Given the description of an element on the screen output the (x, y) to click on. 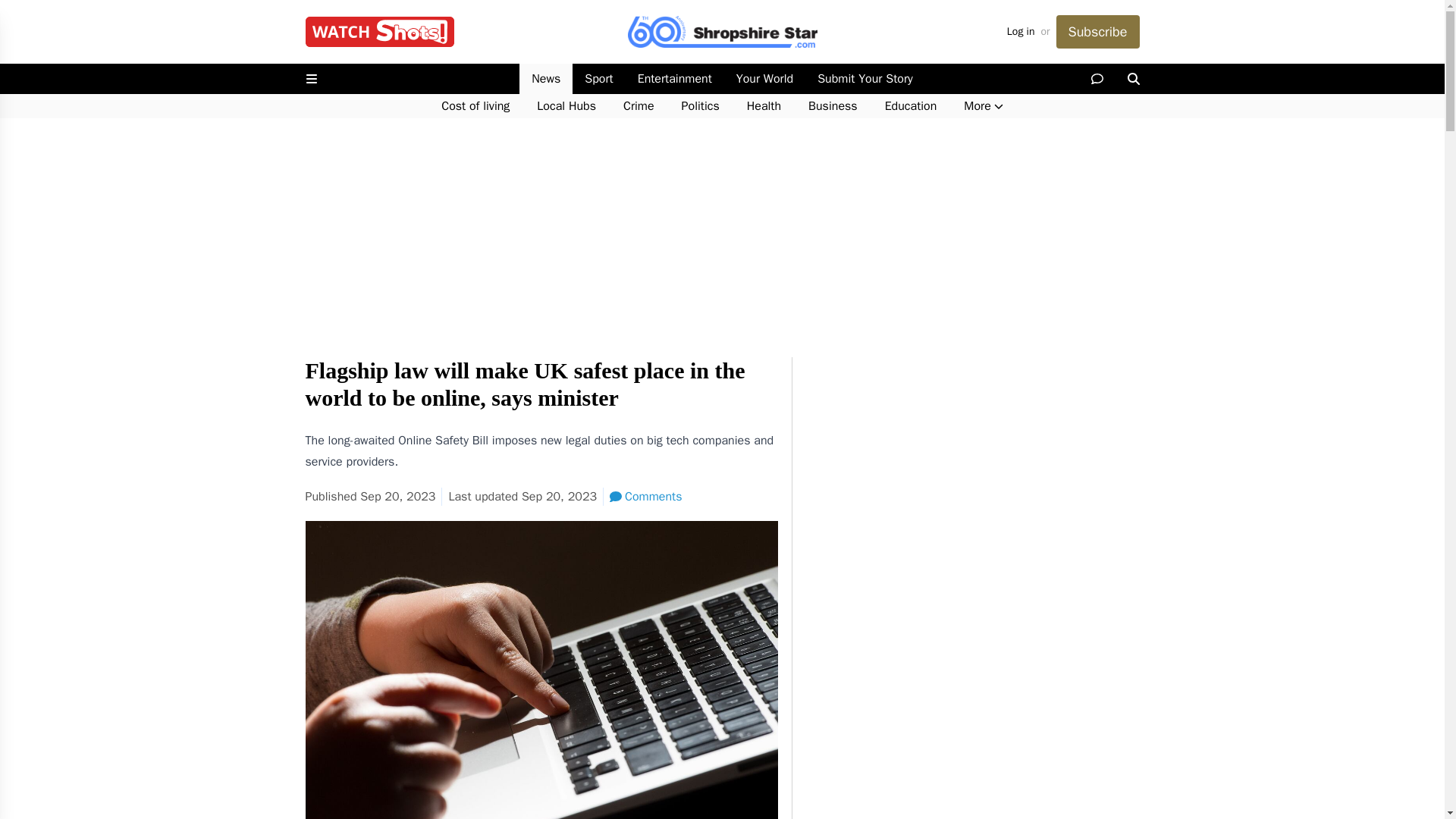
Entertainment (674, 78)
Your World (764, 78)
Submit Your Story (864, 78)
Business (832, 105)
Politics (700, 105)
Health (764, 105)
Comments (645, 496)
News (545, 78)
3rd party ad content (972, 452)
Subscribe (1096, 31)
Log in (1021, 31)
Sport (598, 78)
Cost of living (475, 105)
Education (910, 105)
